Given the description of an element on the screen output the (x, y) to click on. 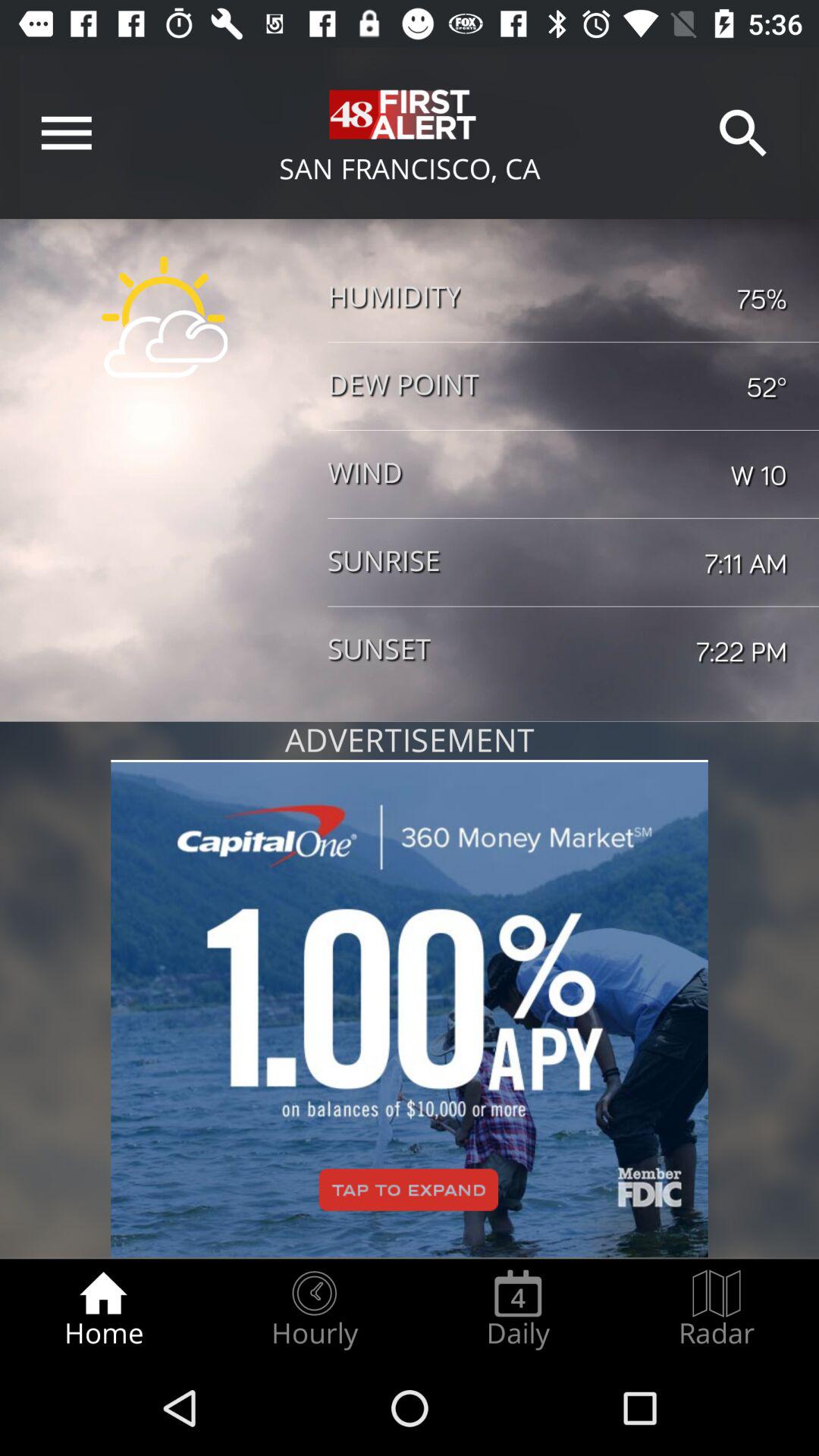
tap icon to the right of the home icon (314, 1309)
